Given the description of an element on the screen output the (x, y) to click on. 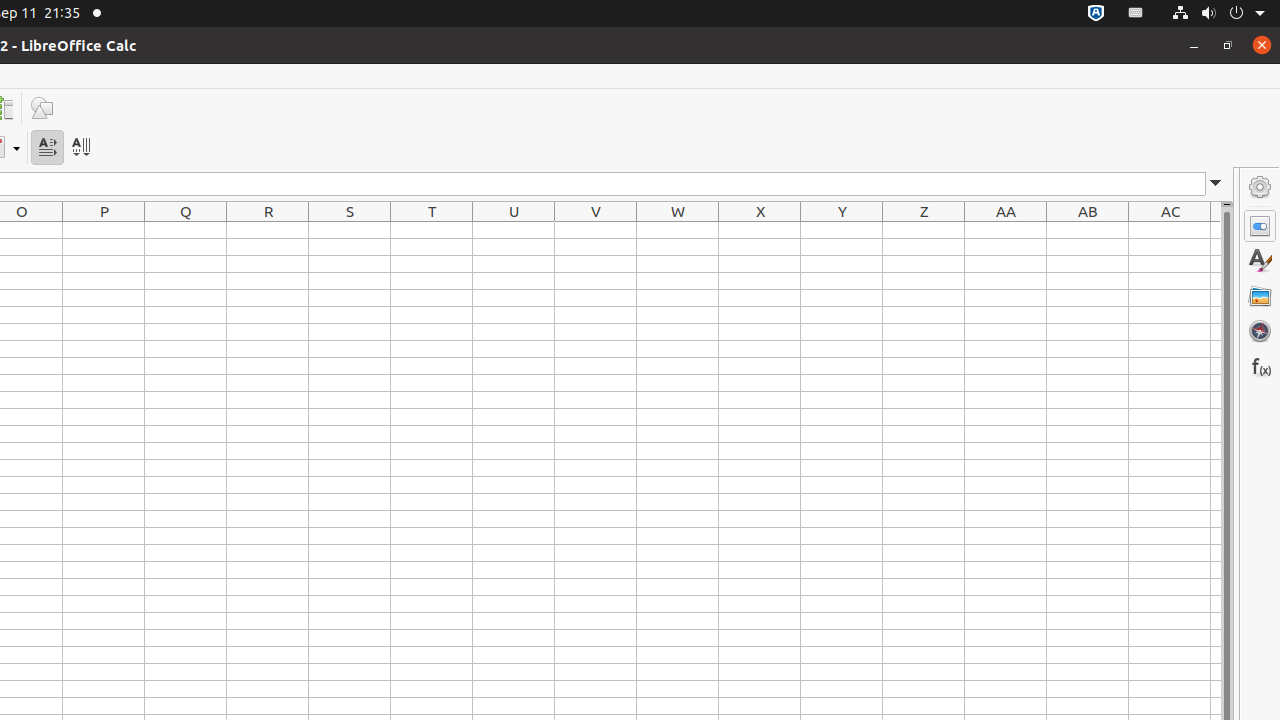
V1 Element type: table-cell (596, 230)
Properties Element type: radio-button (1260, 226)
Y1 Element type: table-cell (842, 230)
Navigator Element type: radio-button (1260, 331)
Text direction from top to bottom Element type: toggle-button (80, 147)
